Given the description of an element on the screen output the (x, y) to click on. 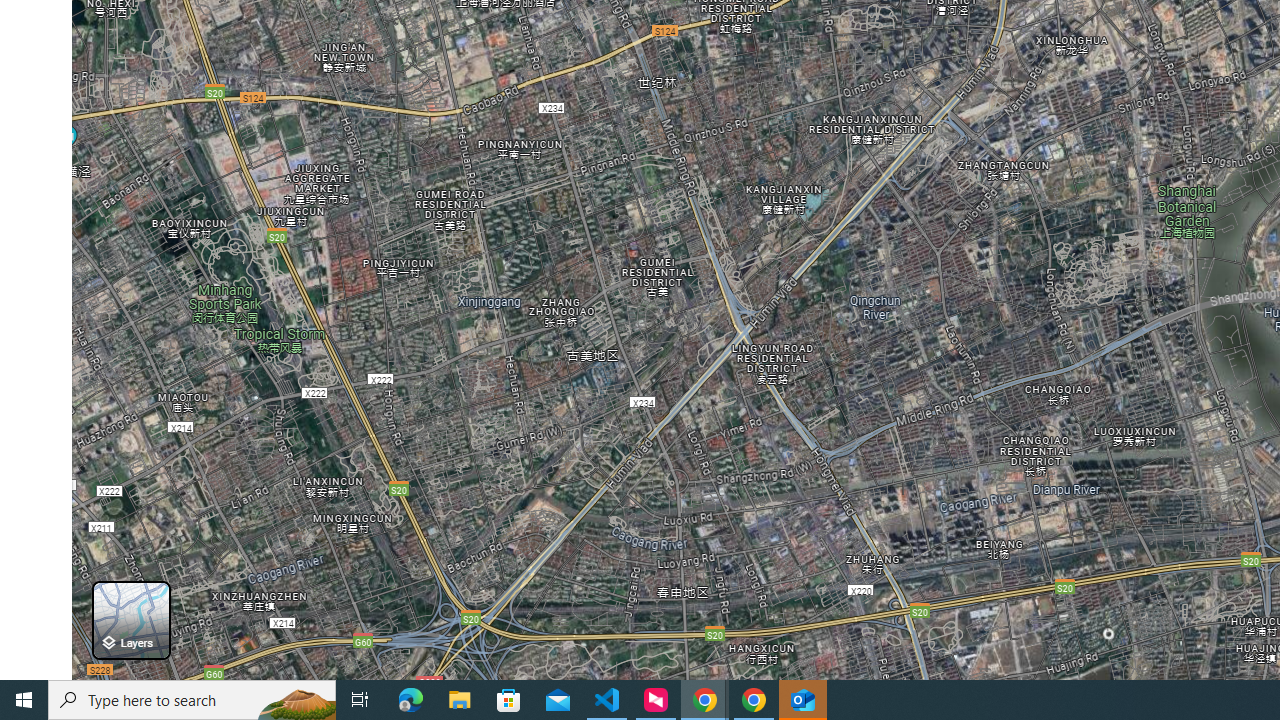
Layers (130, 620)
